Given the description of an element on the screen output the (x, y) to click on. 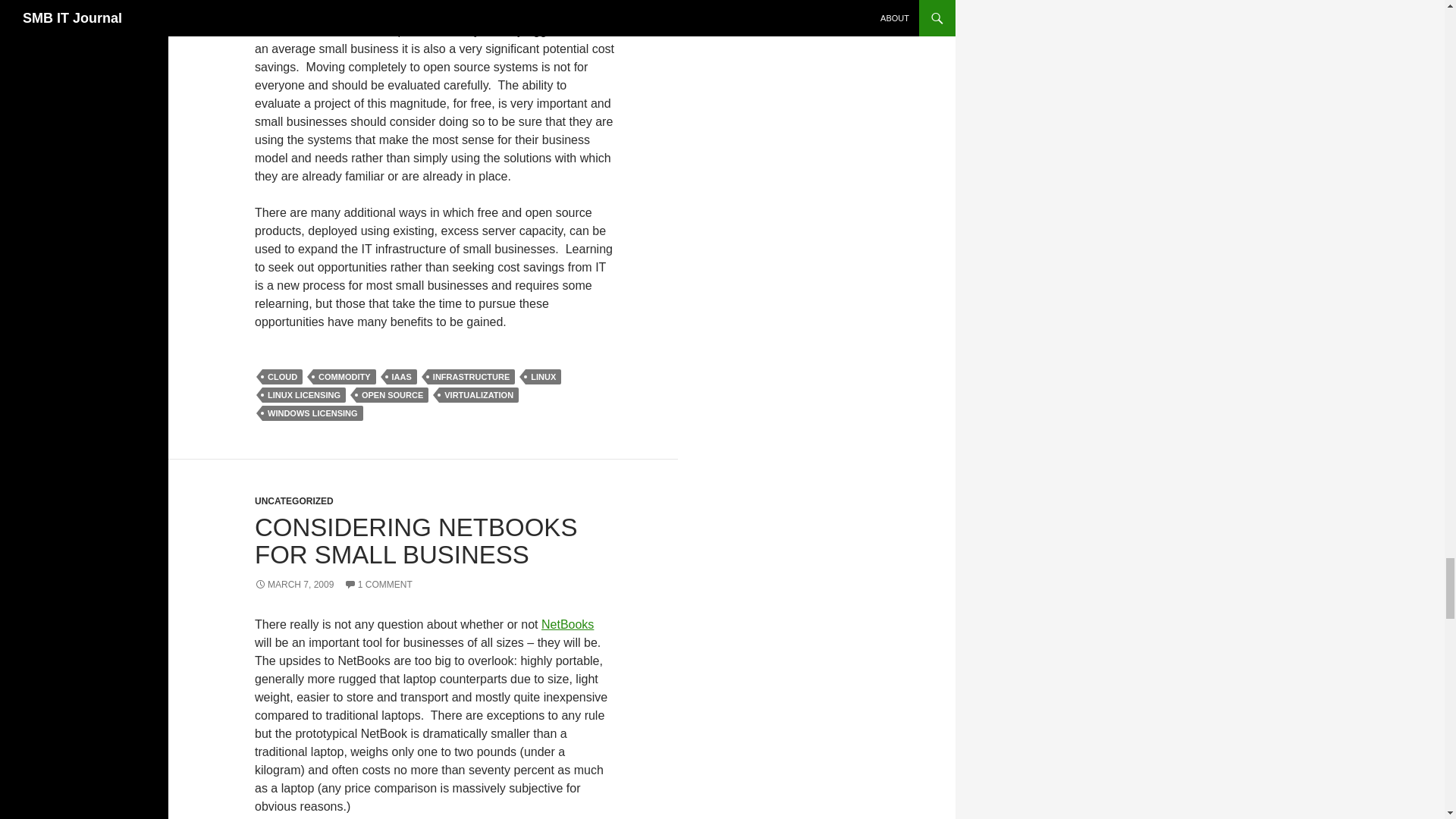
MARCH 7, 2009 (293, 584)
IAAS (401, 376)
LINUX LICENSING (304, 394)
WINDOWS LICENSING (312, 412)
COMMODITY (344, 376)
NetBook on WikiPedia (567, 624)
LINUX (542, 376)
VIRTUALIZATION (478, 394)
CONSIDERING NETBOOKS FOR SMALL BUSINESS (415, 540)
INFRASTRUCTURE (471, 376)
